Given the description of an element on the screen output the (x, y) to click on. 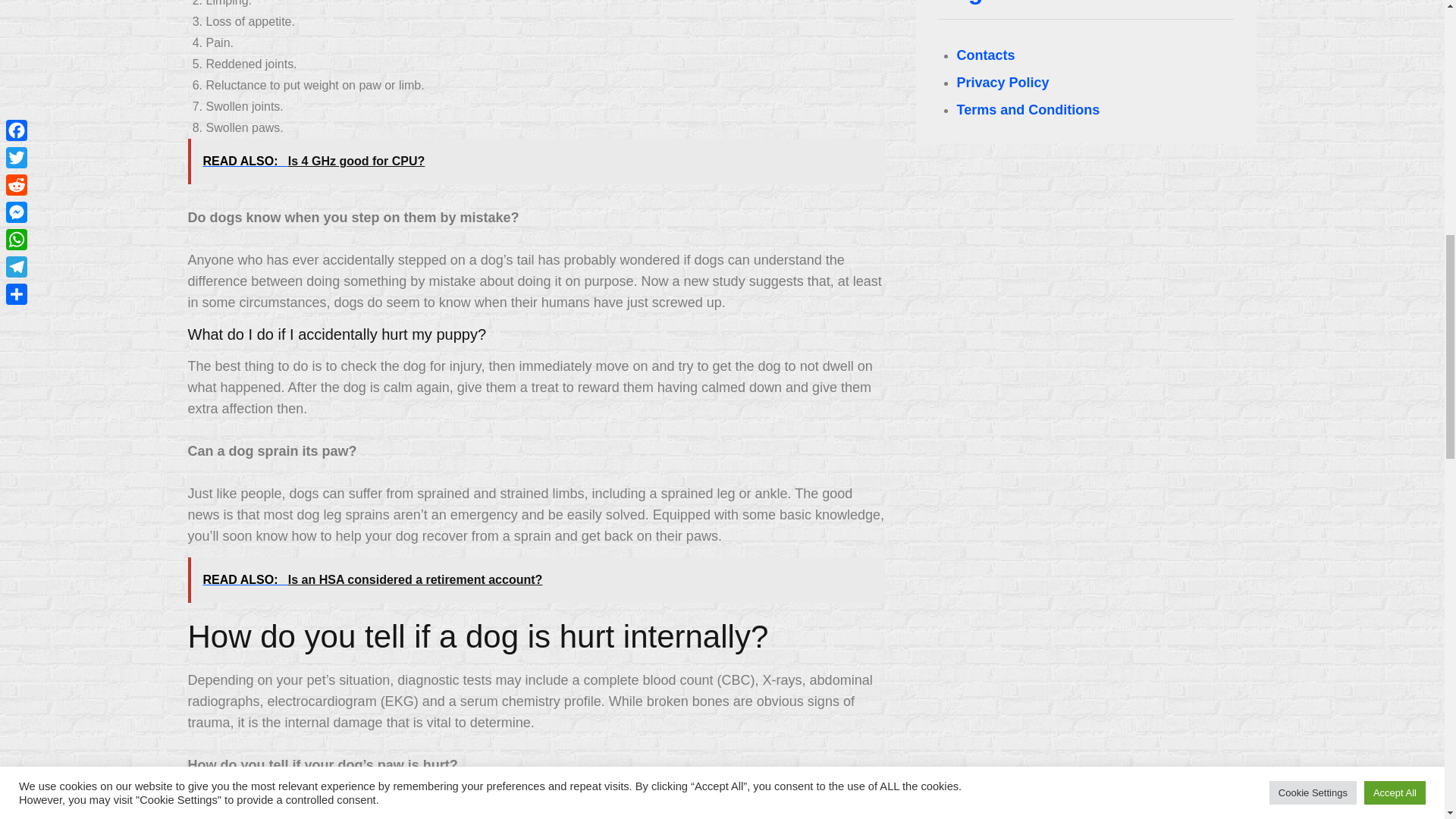
READ ALSO:   Is 4 GHz good for CPU? (536, 161)
READ ALSO:   Is an HSA considered a retirement account? (536, 579)
